Given the description of an element on the screen output the (x, y) to click on. 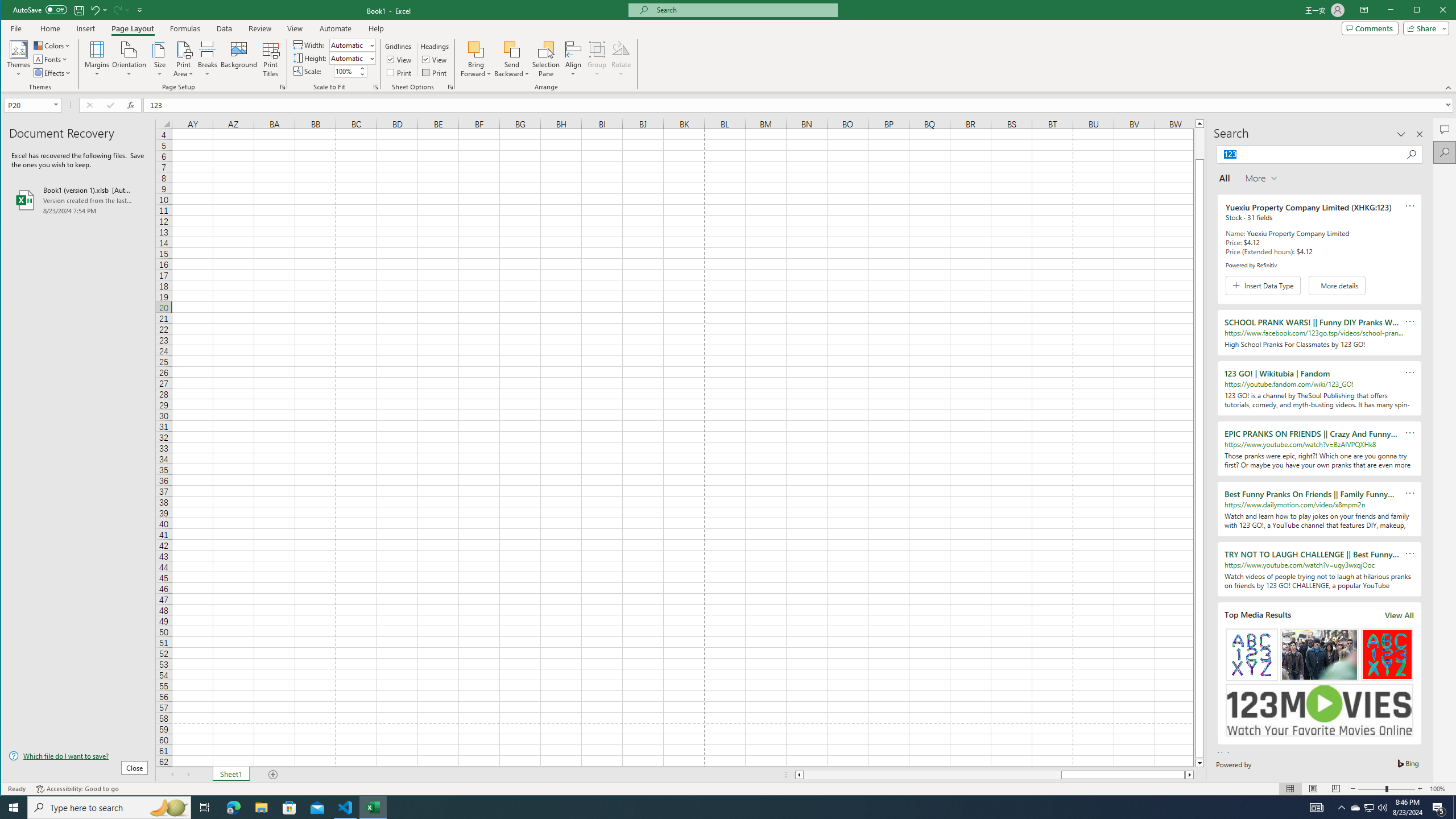
Width (352, 44)
Fonts (51, 59)
Height (349, 58)
Running applications (717, 807)
Microsoft Store (289, 807)
Search highlights icon opens search home window (167, 807)
